Given the description of an element on the screen output the (x, y) to click on. 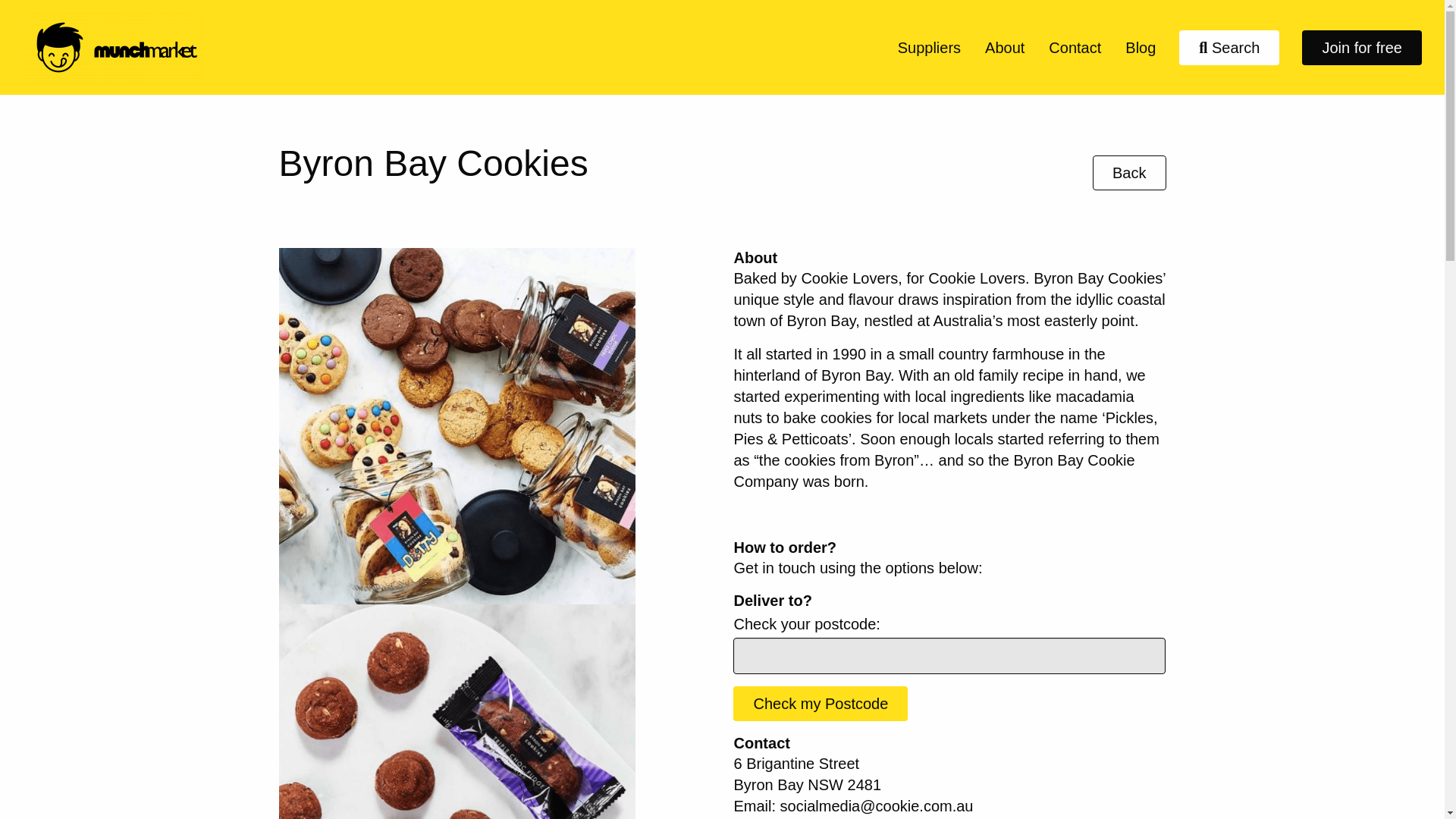
About (1004, 47)
Back (1129, 172)
Join for free (1361, 47)
Search (1229, 47)
Contact (1074, 47)
Suppliers (928, 47)
Check my Postcode (820, 703)
Blog (1140, 47)
